Given the description of an element on the screen output the (x, y) to click on. 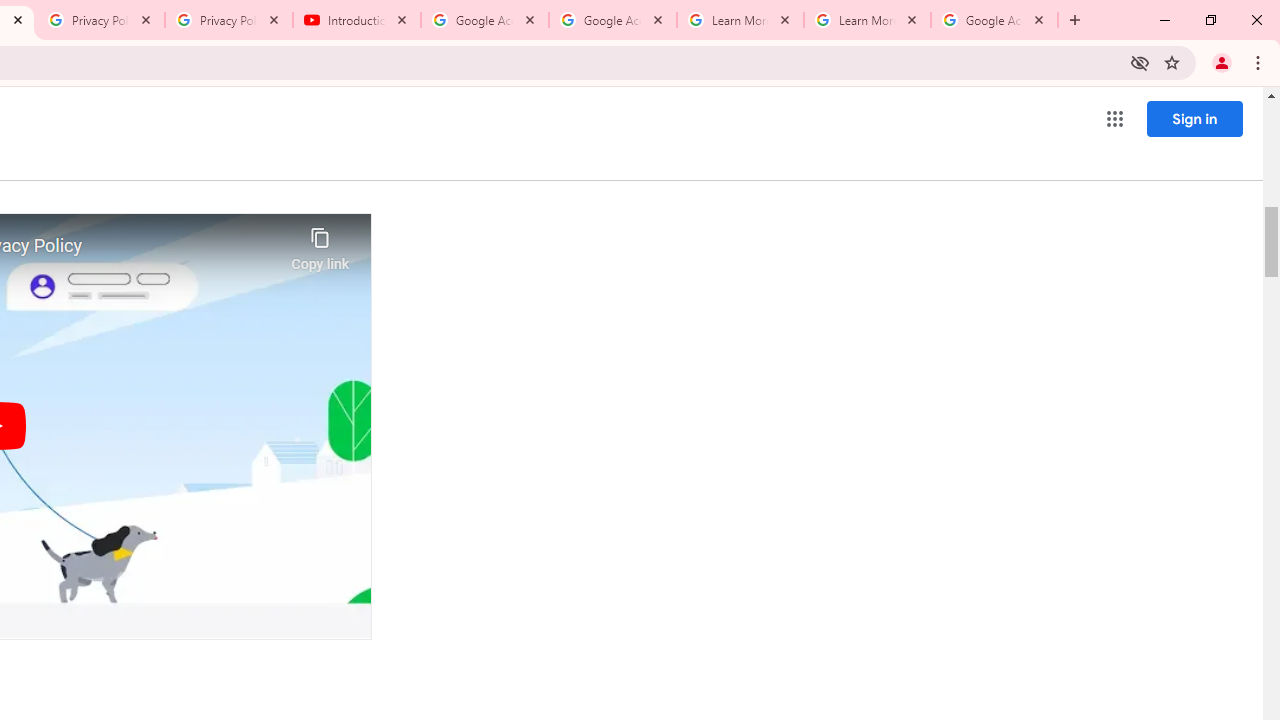
Google Account Help (485, 20)
Google Account (994, 20)
Introduction | Google Privacy Policy - YouTube (357, 20)
